Given the description of an element on the screen output the (x, y) to click on. 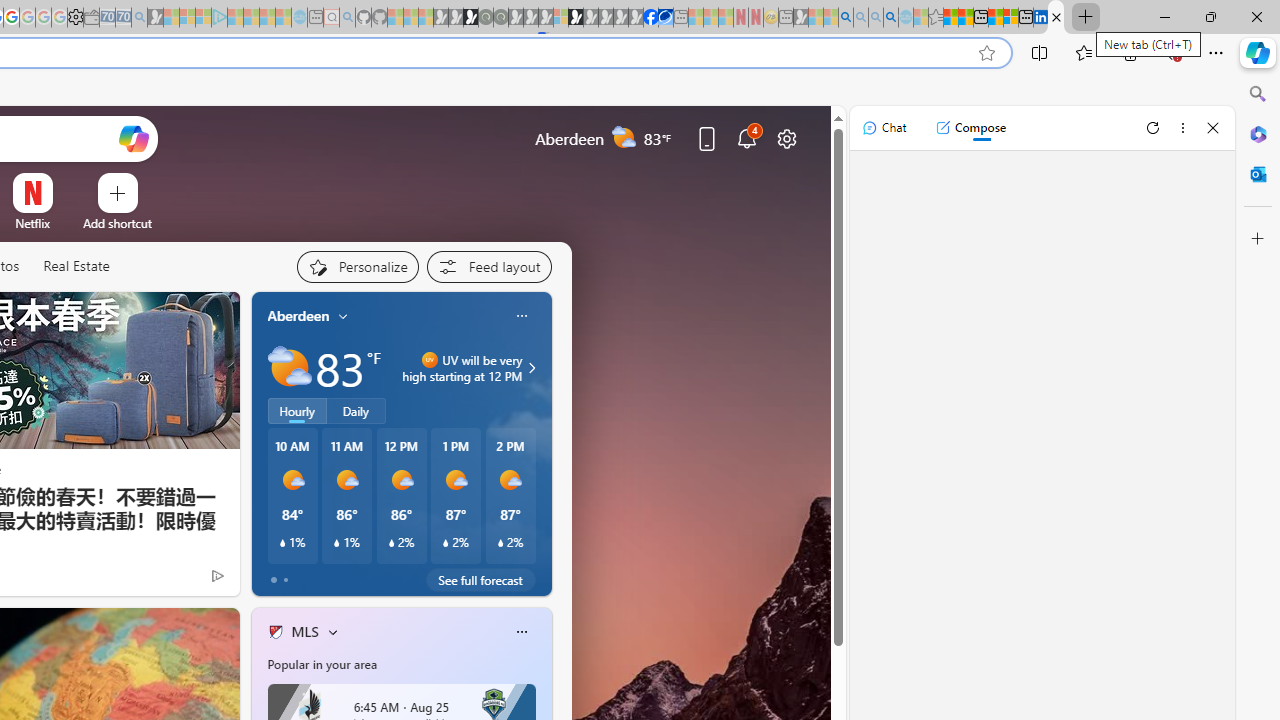
Bing AI - Search (845, 17)
Nordace | Facebook (650, 17)
Netflix (32, 223)
